Given the description of an element on the screen output the (x, y) to click on. 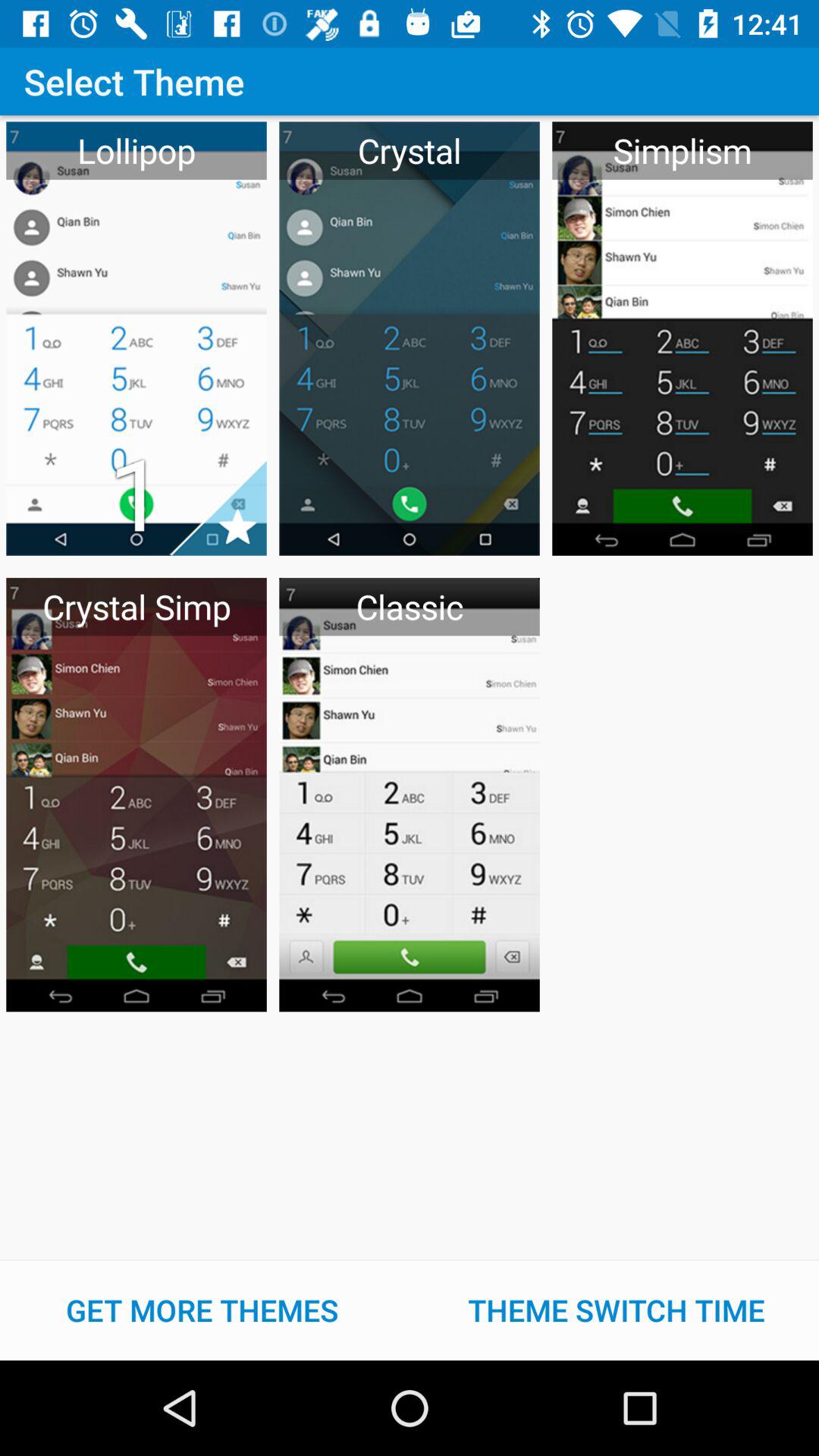
scroll to theme switch time button (616, 1310)
